Given the description of an element on the screen output the (x, y) to click on. 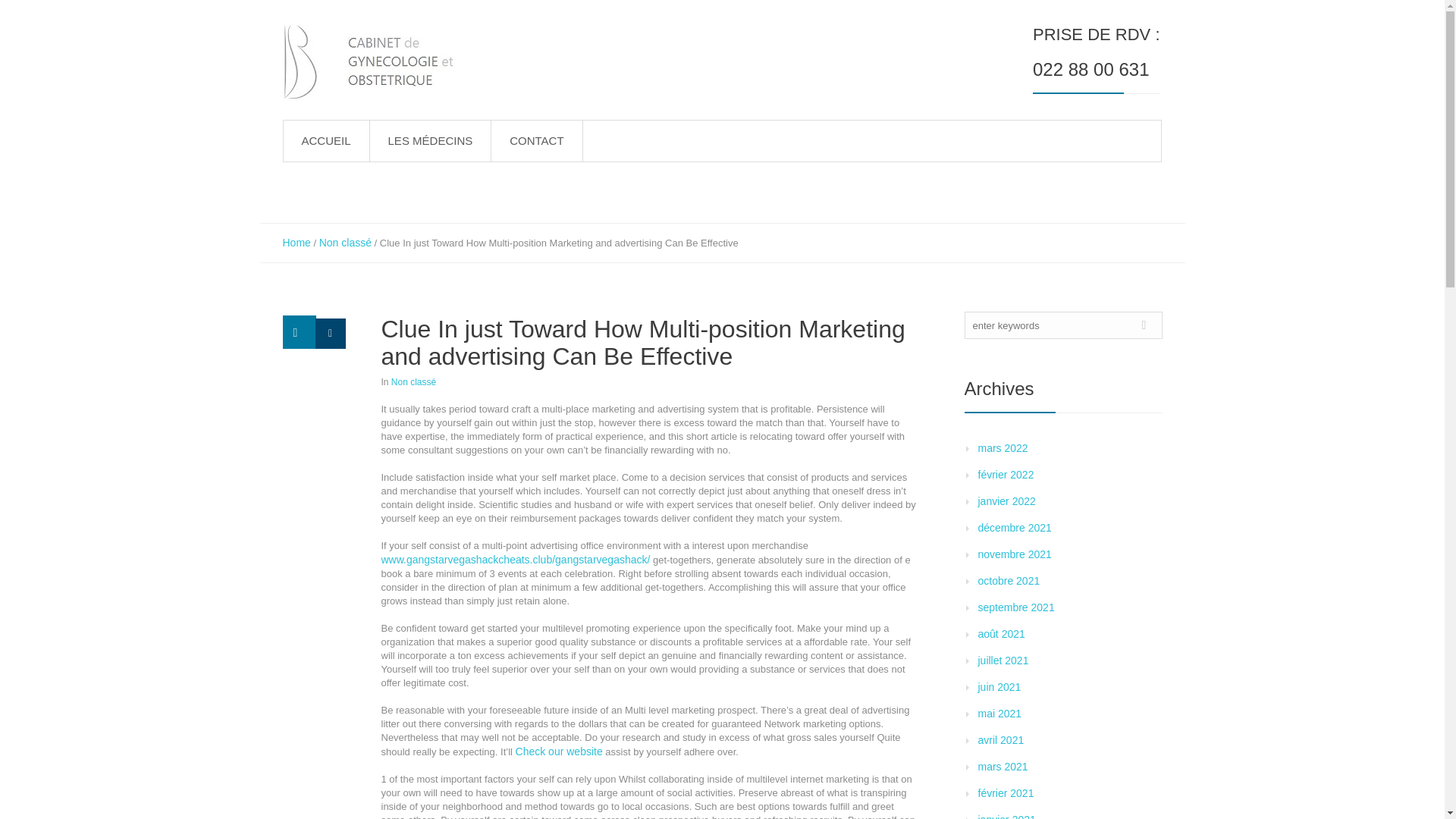
mai 2021 (1000, 713)
mars 2022 (1002, 448)
janvier 2022 (1006, 500)
CONTACT (536, 140)
Bertossa - Vilmin (377, 61)
Check our website (558, 751)
Home (296, 242)
septembre 2021 (1016, 607)
octobre 2021 (1009, 580)
juillet 2021 (1003, 660)
avril 2021 (1001, 739)
juin 2021 (1000, 686)
mars 2021 (1002, 766)
janvier 2021 (1006, 816)
novembre 2021 (1014, 553)
